Given the description of an element on the screen output the (x, y) to click on. 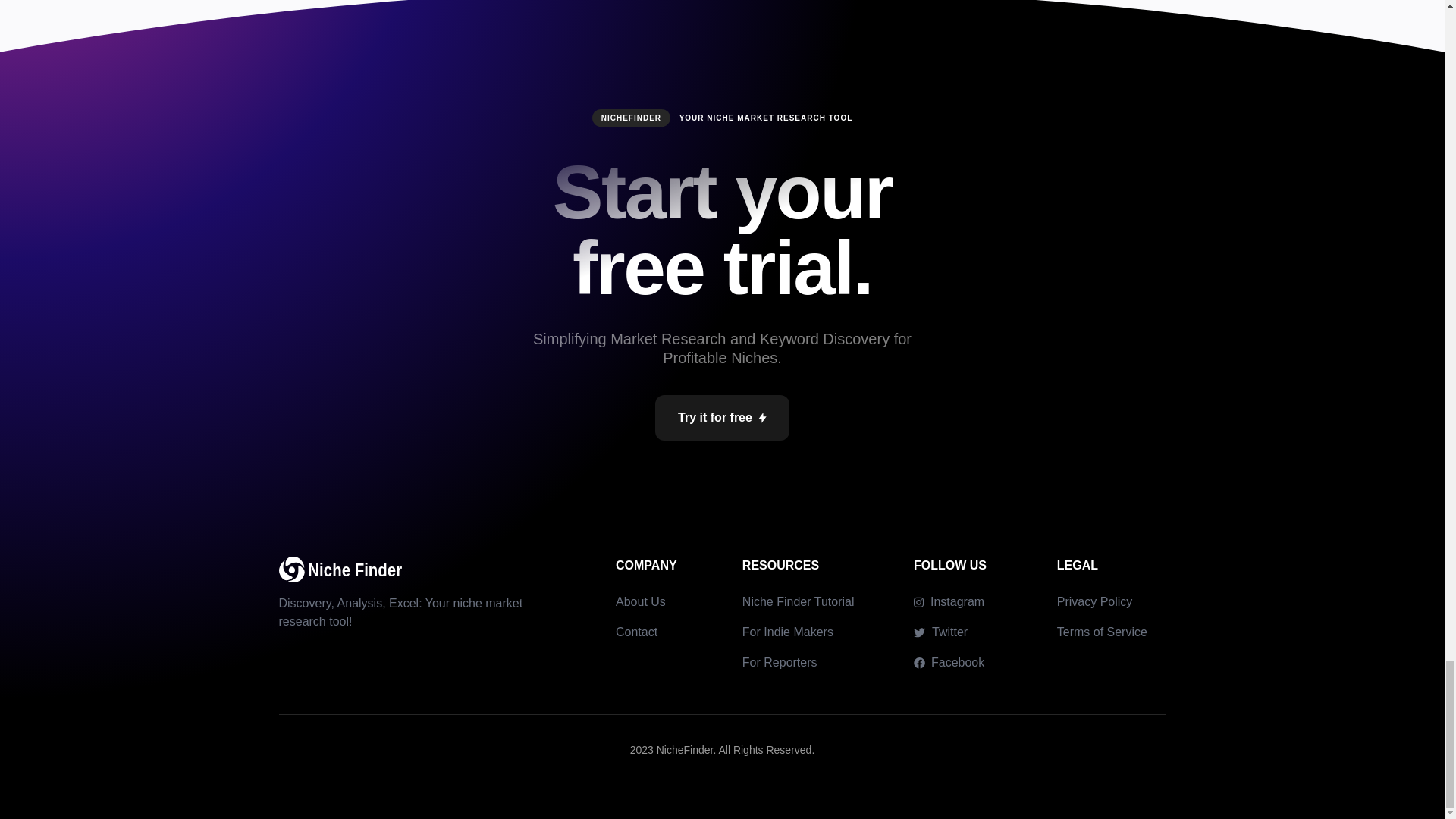
About Us (640, 601)
Contact (636, 631)
For Indie Makers (787, 631)
Try it for free (722, 417)
Niche Finder Tutorial (798, 601)
For Reporters (779, 662)
